Given the description of an element on the screen output the (x, y) to click on. 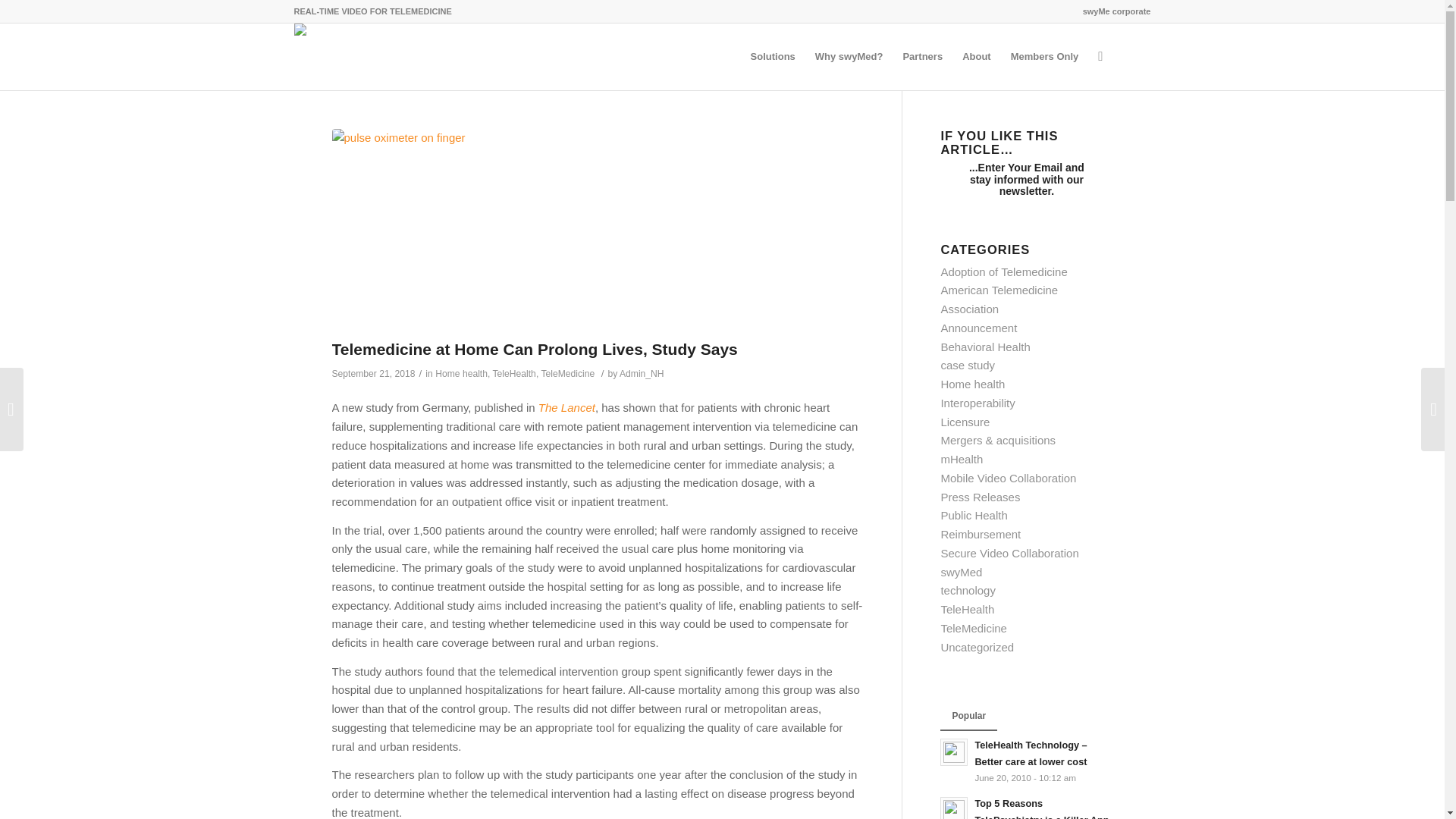
Why swyMed? (849, 56)
swyMe corporate (1117, 11)
Solutions (773, 56)
pulse oximeter on finger (597, 229)
Members Only (1045, 56)
Partners (922, 56)
